Given the description of an element on the screen output the (x, y) to click on. 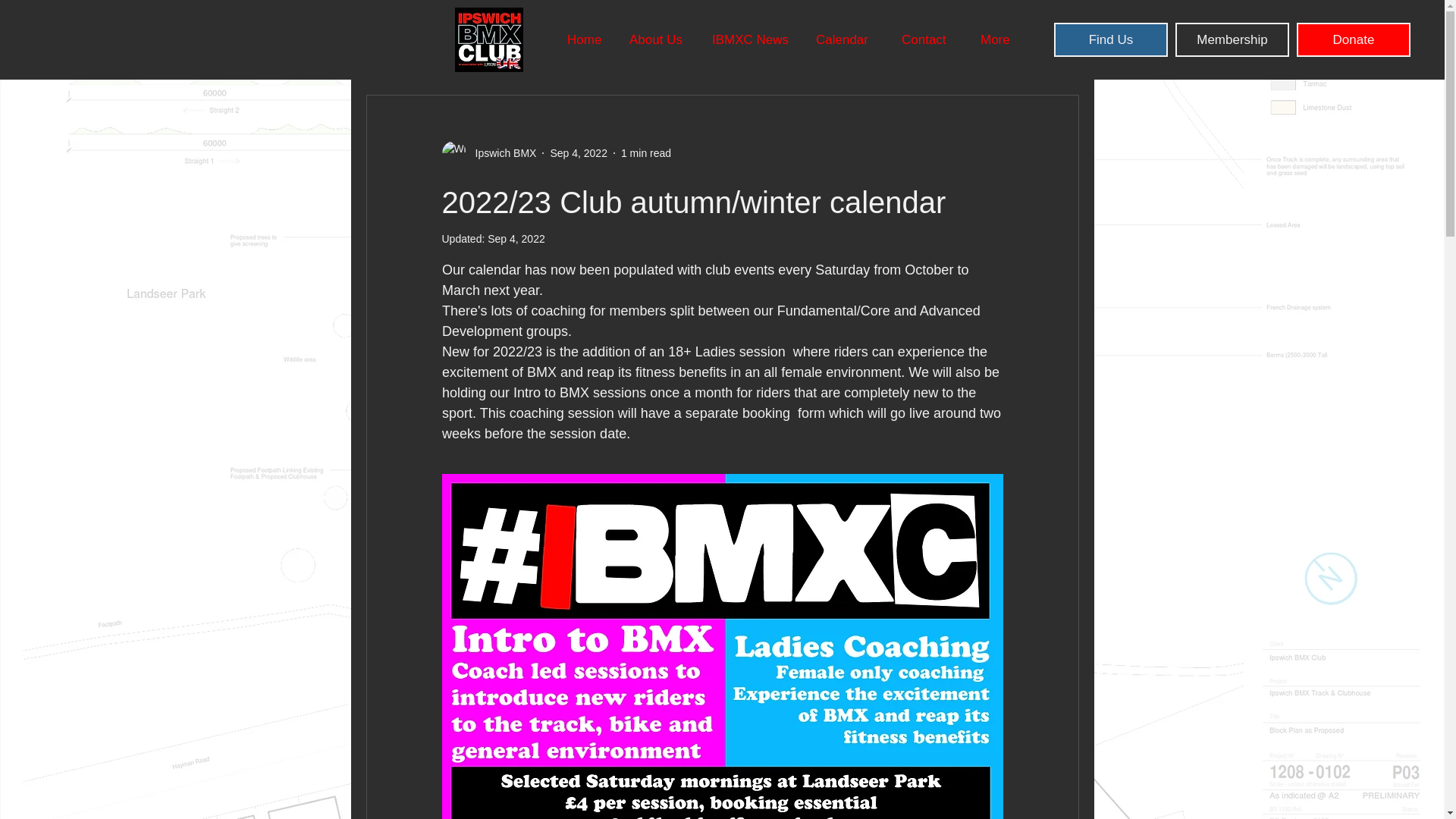
1 min read (646, 152)
Membership (1231, 39)
Contact (929, 39)
IBMXC News (752, 39)
About Us (658, 39)
Find Us (1110, 39)
Donate (1353, 39)
Sep 4, 2022 (578, 152)
Sep 4, 2022 (515, 238)
Ipswich BMX (488, 152)
Home (586, 39)
Ipswich BMX (500, 153)
Calendar (847, 39)
